Given the description of an element on the screen output the (x, y) to click on. 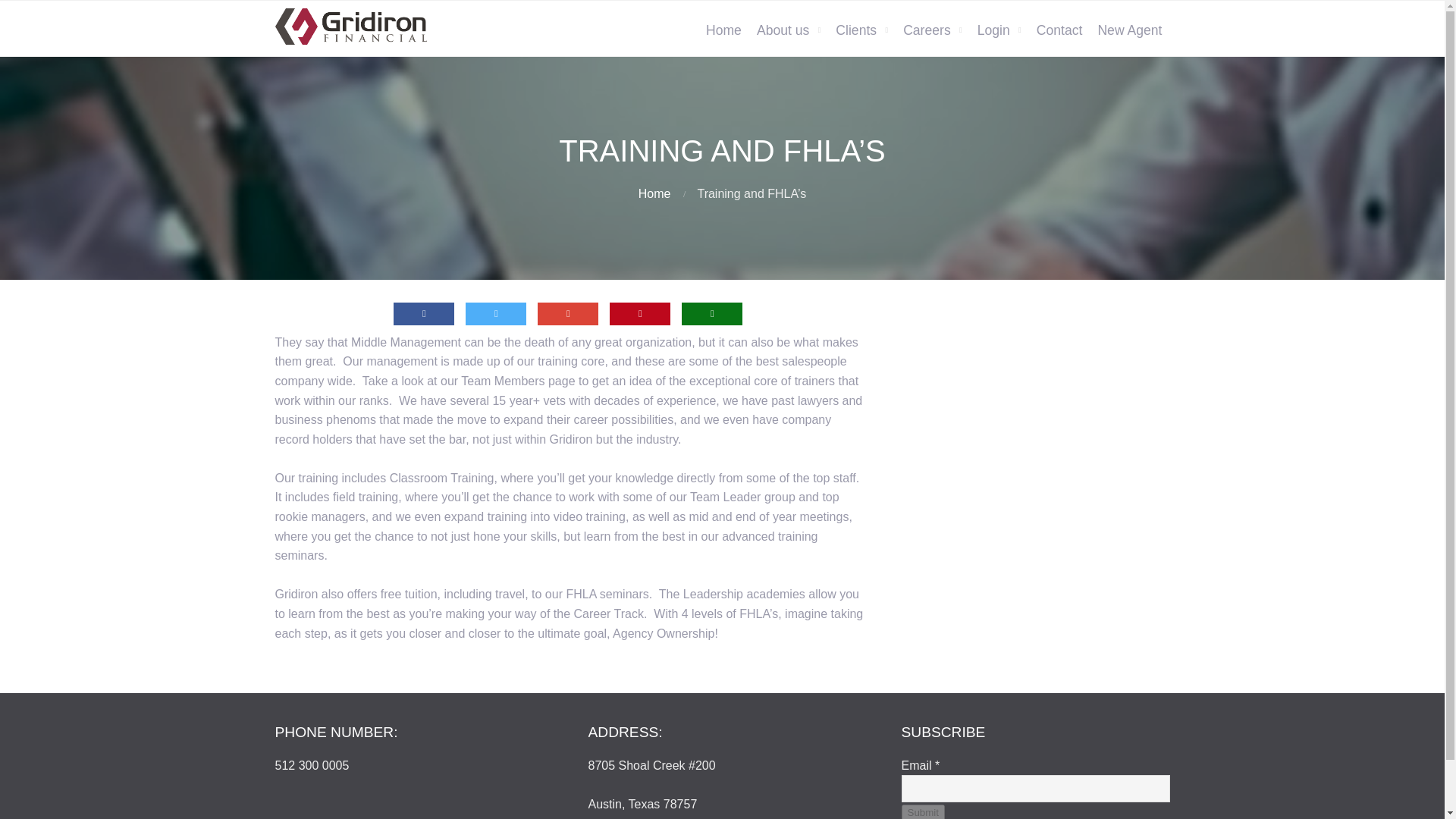
New Agent (1129, 30)
Login (999, 30)
Contact (1059, 30)
Clients (861, 30)
Home (723, 30)
About us (788, 30)
Home (655, 193)
Careers (932, 30)
Submit (922, 811)
